Given the description of an element on the screen output the (x, y) to click on. 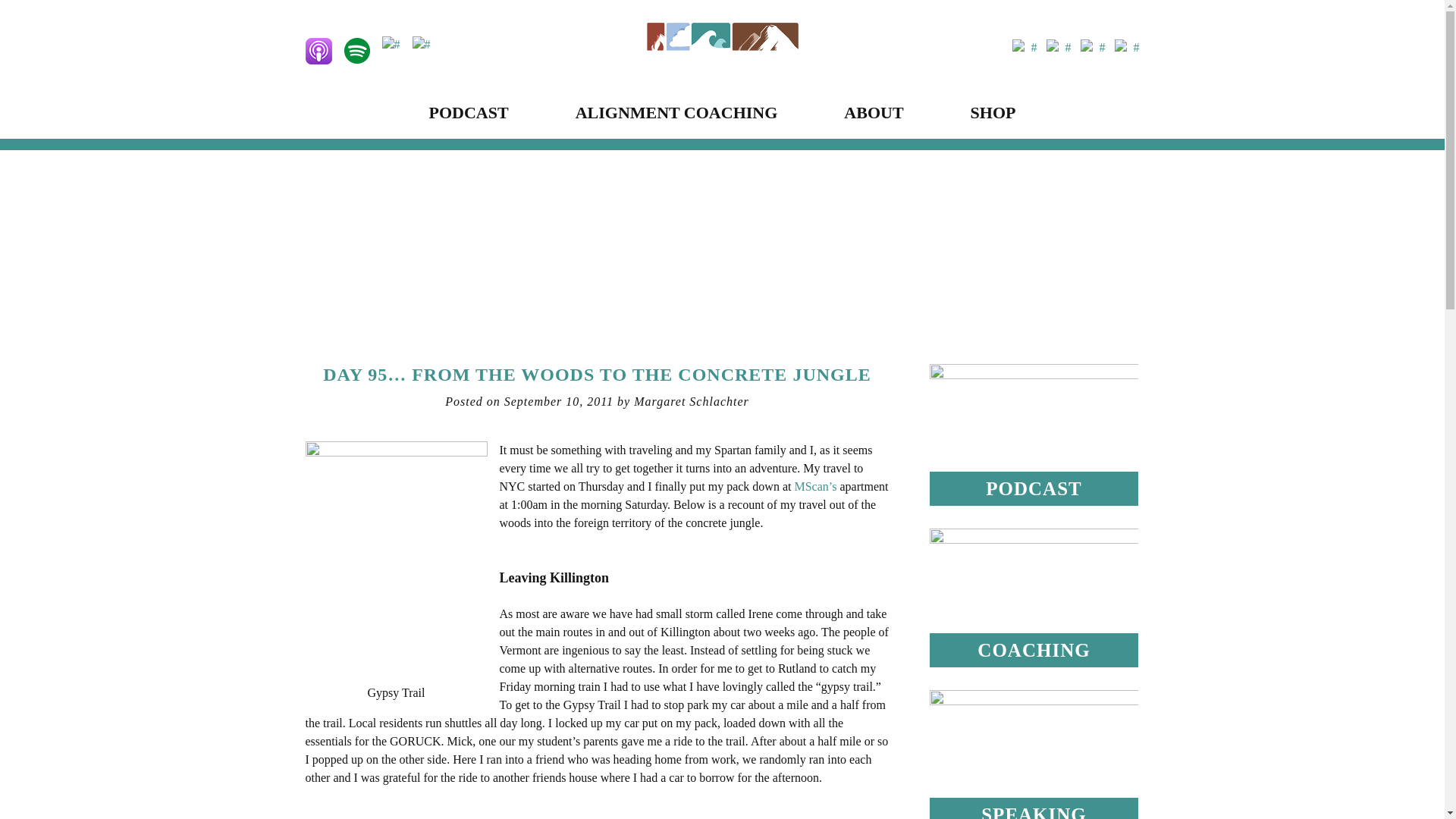
ALIGNMENT COACHING (676, 112)
ABOUT (873, 112)
PODCAST (468, 112)
SHOP (993, 112)
